Given the description of an element on the screen output the (x, y) to click on. 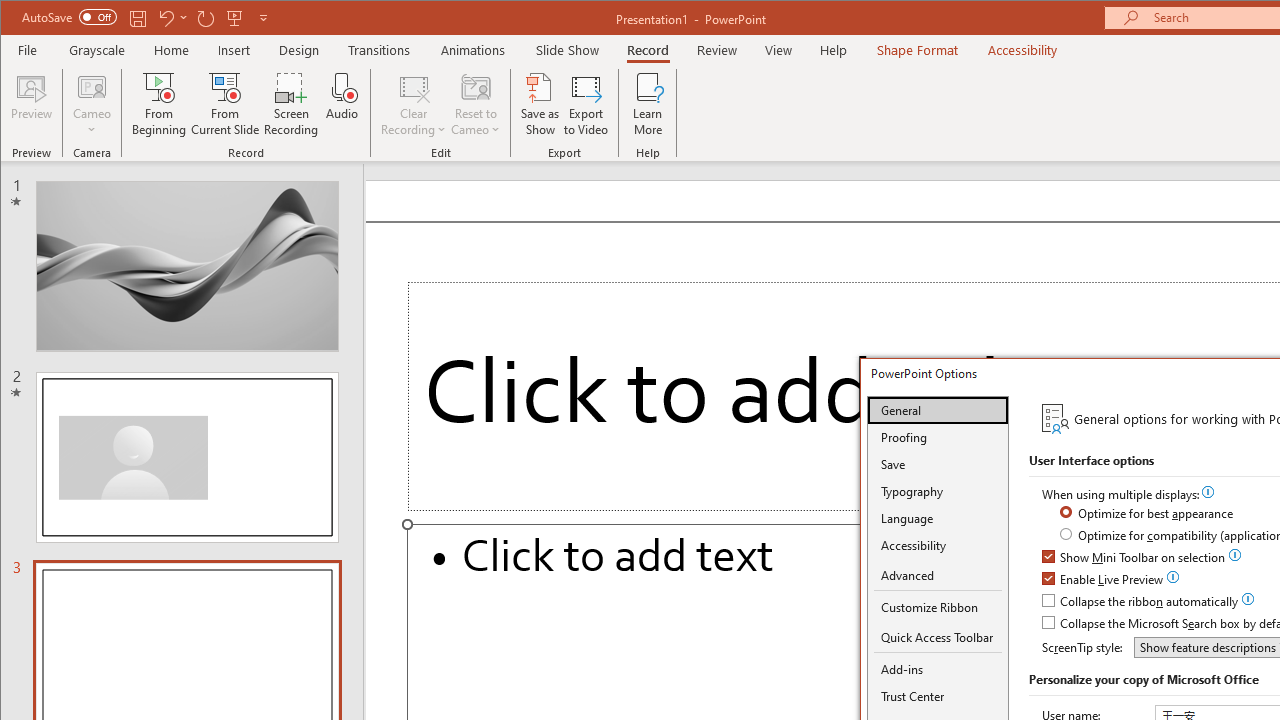
Typography (937, 491)
Customize Ribbon (937, 607)
Proofing (937, 437)
Save as Show (539, 104)
Language (937, 518)
